Given the description of an element on the screen output the (x, y) to click on. 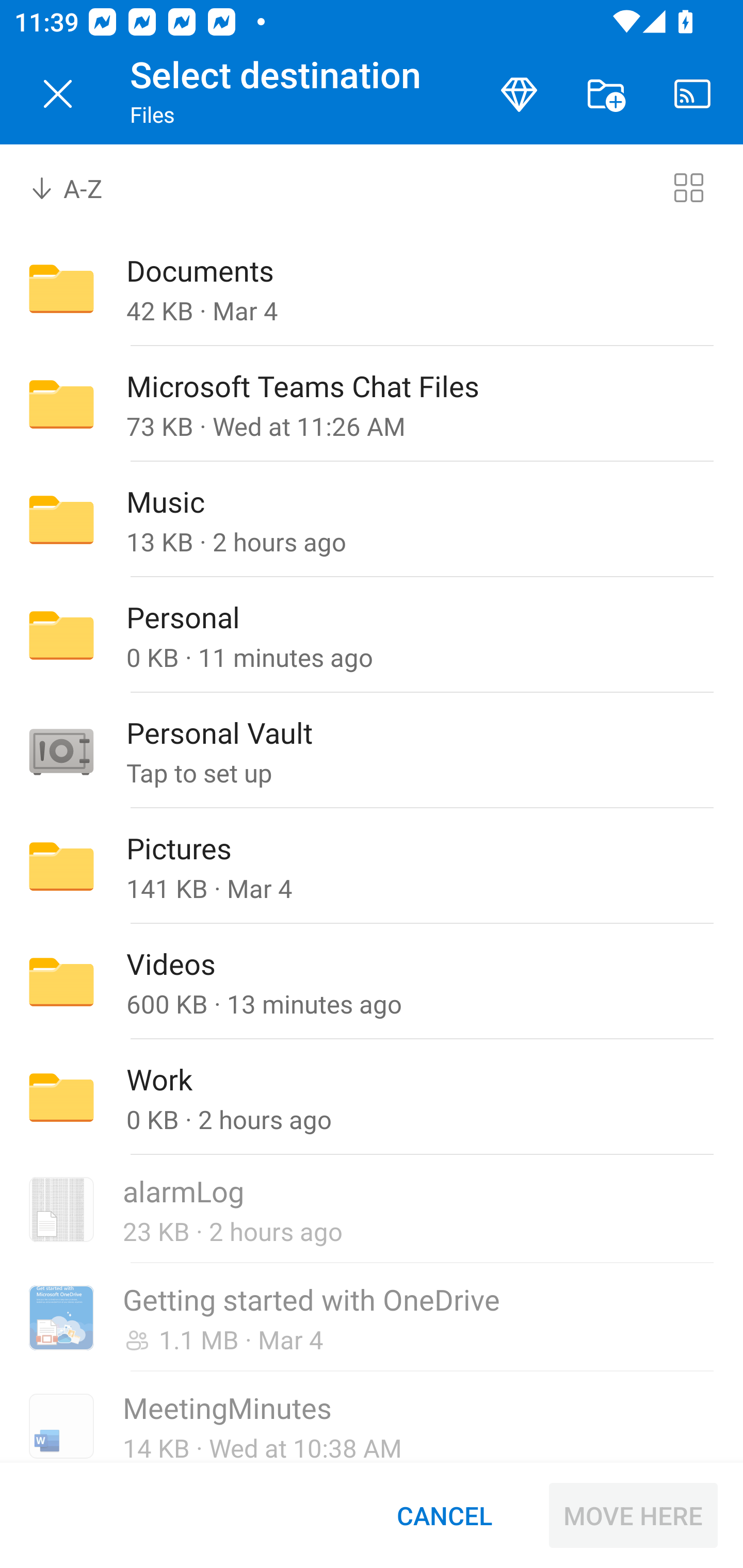
Close (57, 93)
Cast. Disconnected (692, 93)
Premium button (518, 93)
More actions button (605, 93)
A-Z Sort by combo box, sort by name, A to Z (80, 187)
Switch to tiles view (688, 187)
Folder Documents 42 KB · Mar 4 (371, 288)
Folder Music 13 KB · 2 hours ago (371, 519)
Folder Personal 0 KB · 11 minutes ago (371, 635)
Folder Personal Vault Tap to set up (371, 751)
Folder Pictures 141 KB · Mar 4 (371, 866)
Folder Videos 600 KB · 13 minutes ago (371, 981)
Folder Work 0 KB · 2 hours ago (371, 1097)
Document alarmLog 23 KB · 2 hours ago (371, 1209)
CANCEL (443, 1515)
MOVE HERE (633, 1515)
